Given the description of an element on the screen output the (x, y) to click on. 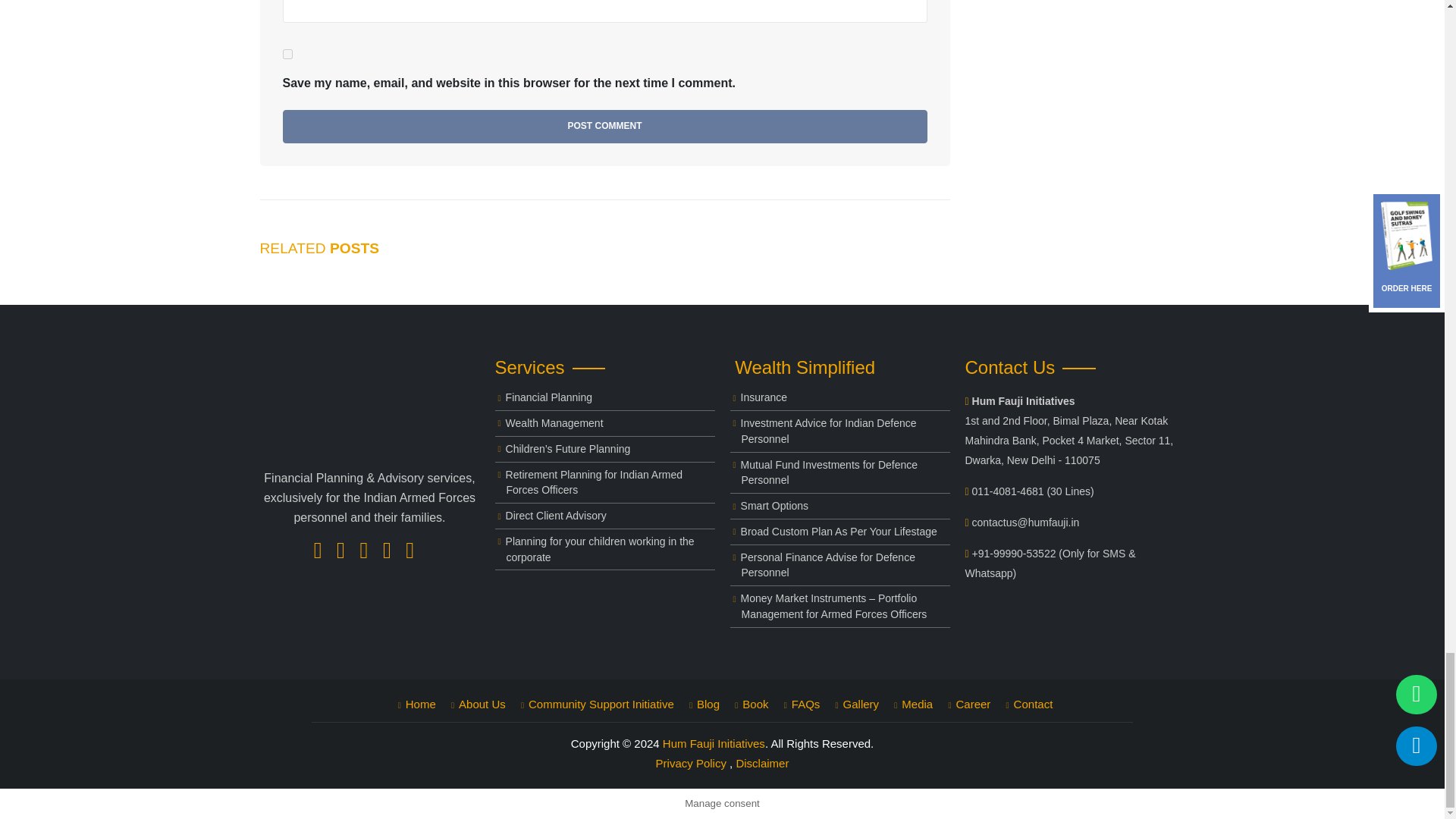
yes (287, 53)
Post Comment (604, 125)
